Given the description of an element on the screen output the (x, y) to click on. 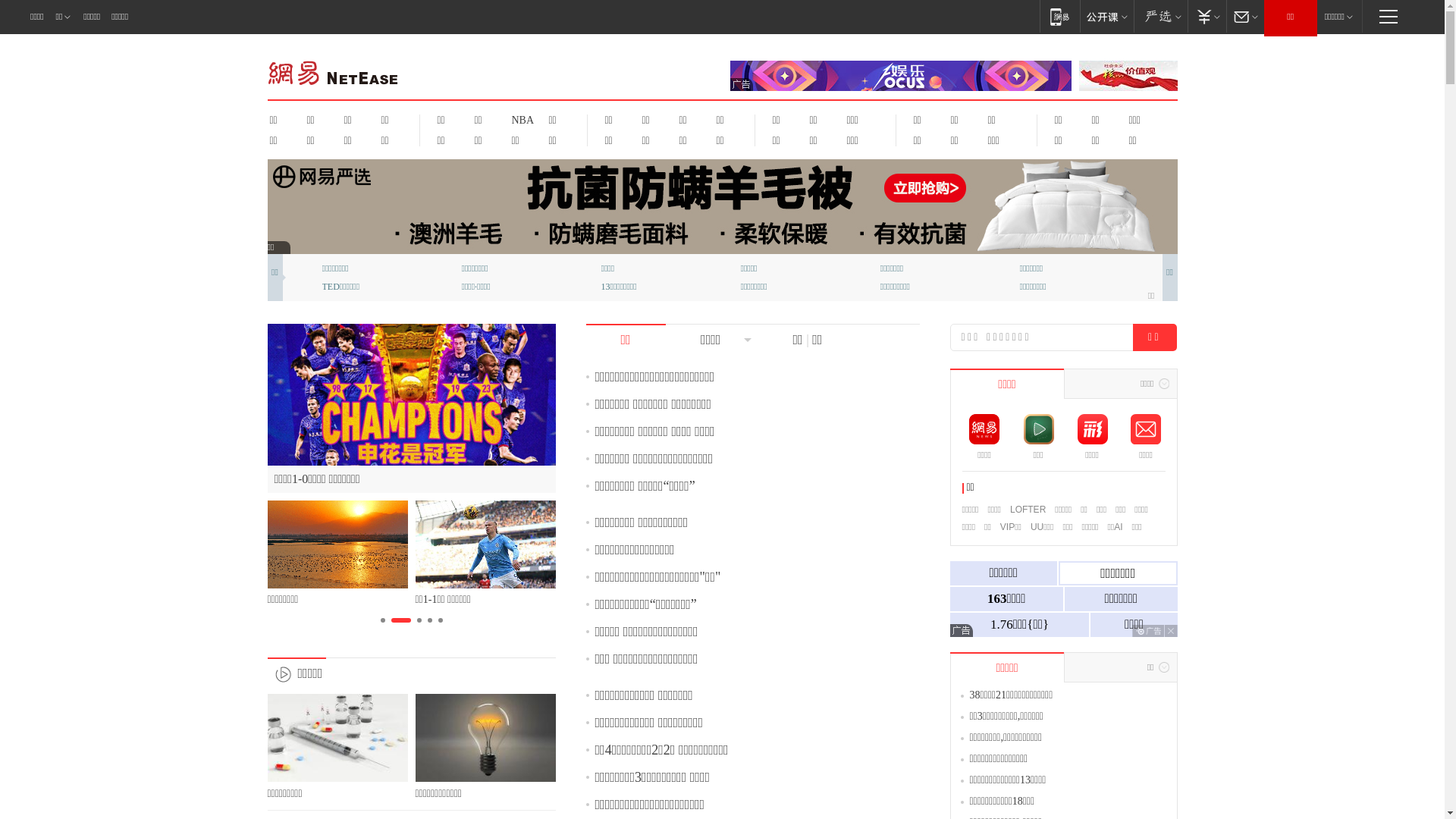
LOFTER Element type: text (1027, 509)
NBA Element type: text (520, 119)
